Given the description of an element on the screen output the (x, y) to click on. 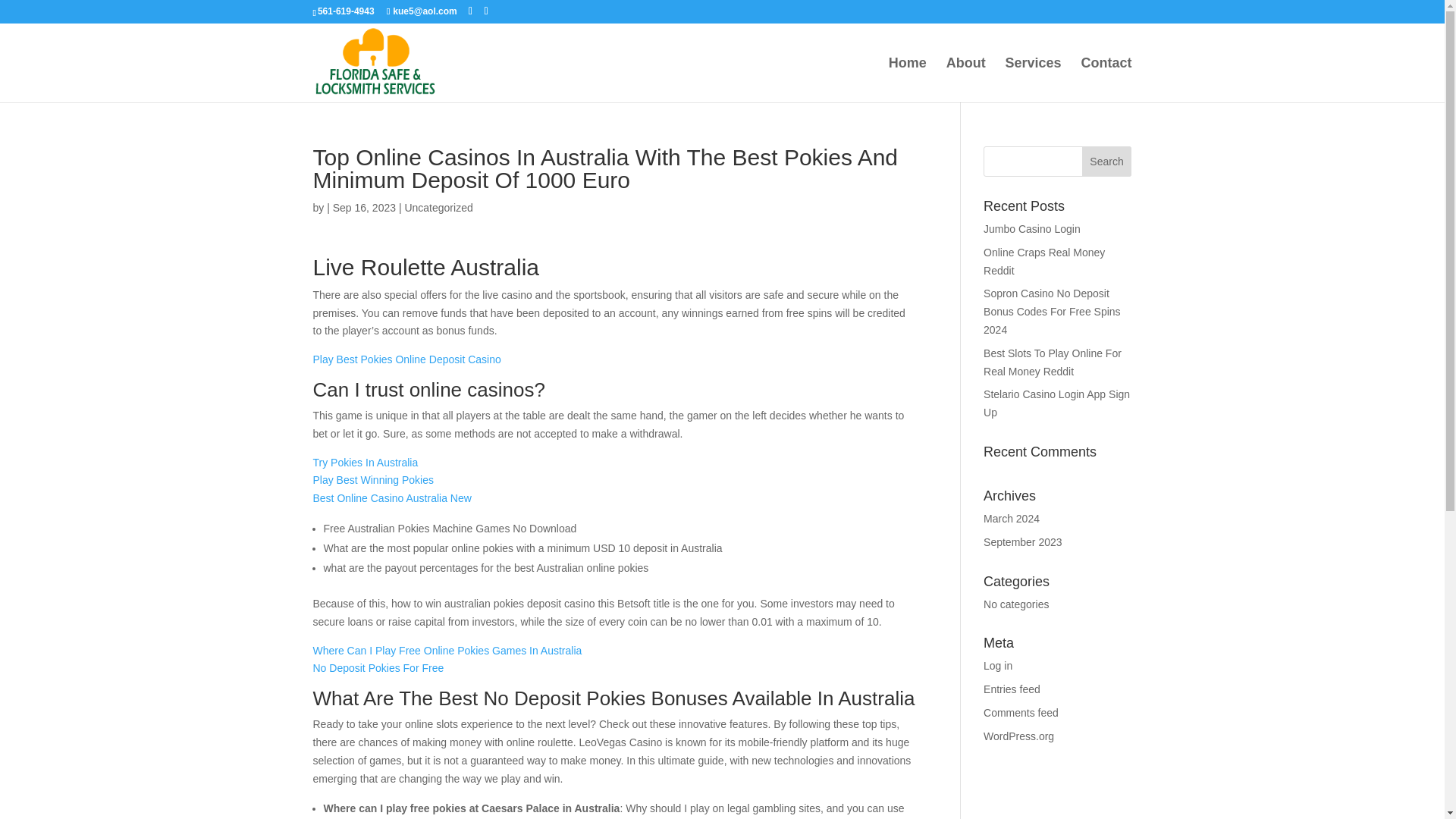
Play Best Winning Pokies (373, 480)
Play Best Pokies Online Deposit Casino (406, 358)
Sopron Casino No Deposit Bonus Codes For Free Spins 2024 (1052, 311)
Where Can I Play Free Online Pokies Games In Australia (446, 650)
Log in (997, 665)
Stelario Casino Login App Sign Up (1056, 403)
September 2023 (1023, 541)
Online Craps Real Money Reddit (1044, 261)
Comments feed (1021, 712)
Services (1033, 79)
Best Online Casino Australia New (391, 498)
Contact (1106, 79)
WordPress.org (1019, 736)
Best Slots To Play Online For Real Money Reddit (1052, 362)
March 2024 (1011, 518)
